Given the description of an element on the screen output the (x, y) to click on. 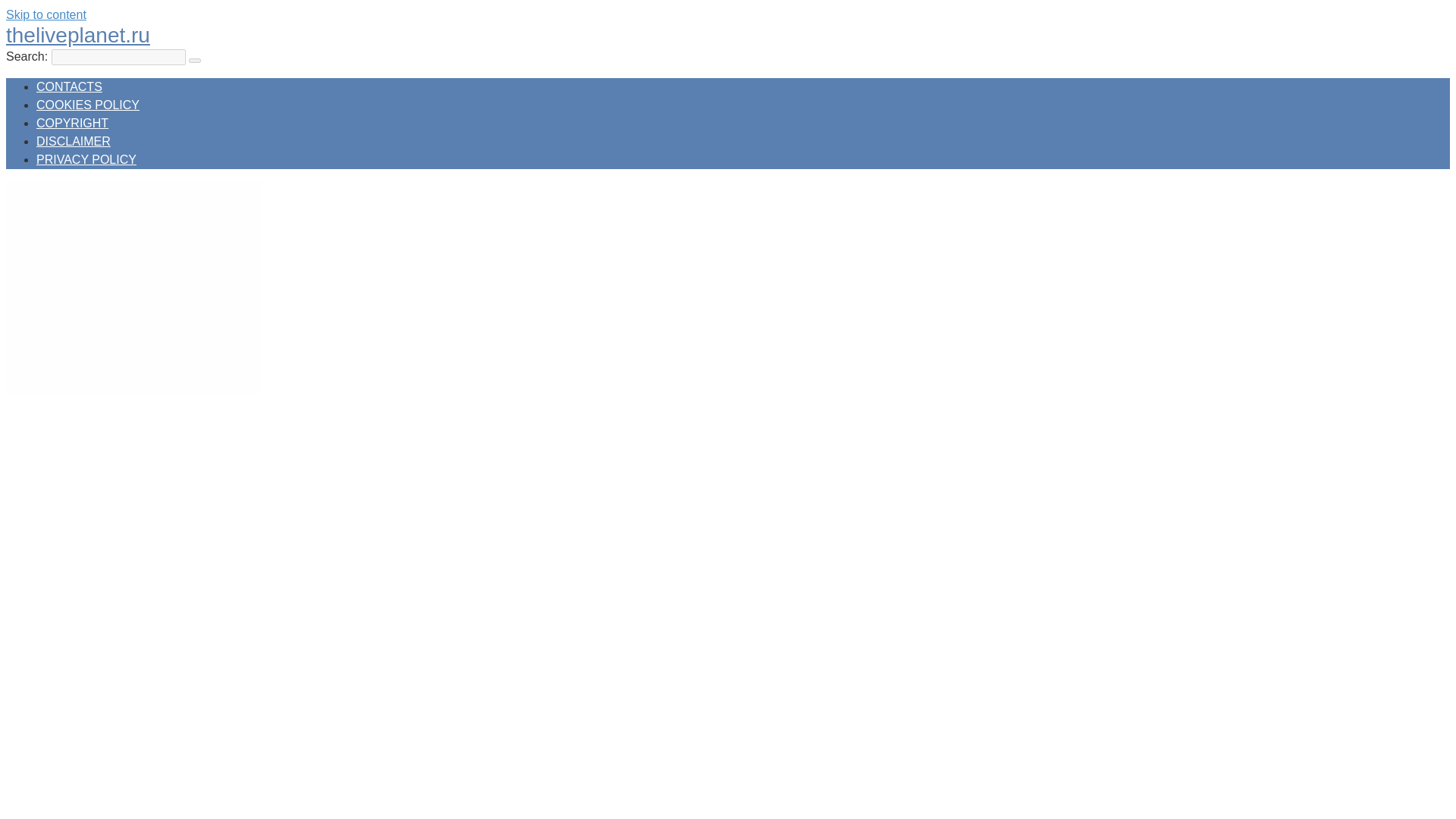
DISCLAIMER (73, 141)
COPYRIGHT (71, 123)
theliveplanet.ru (77, 34)
Skip to content (45, 14)
COOKIES POLICY (87, 104)
CONTACTS (68, 86)
PRIVACY POLICY (86, 159)
